Given the description of an element on the screen output the (x, y) to click on. 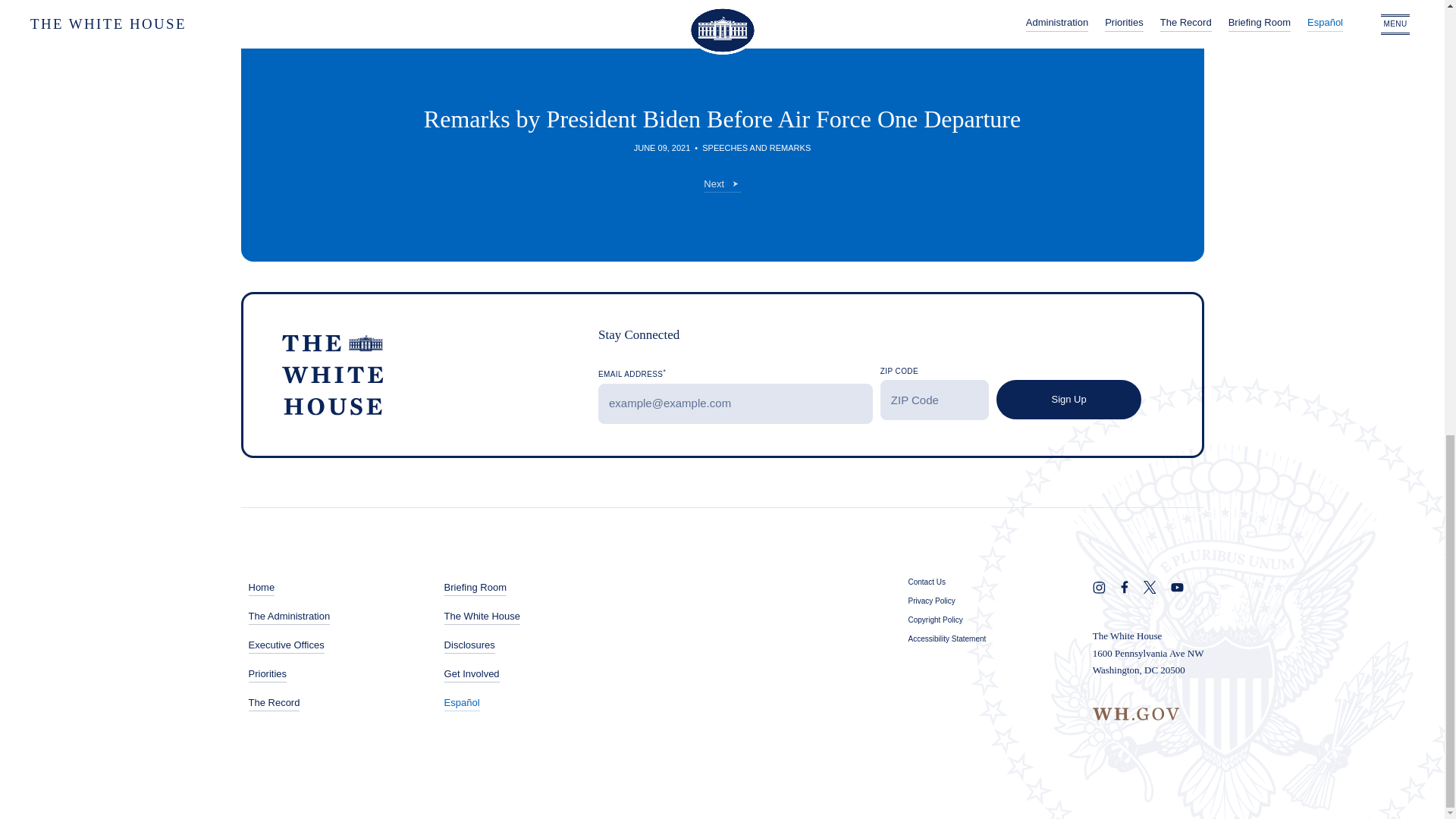
Sign Up (1068, 400)
